Given the description of an element on the screen output the (x, y) to click on. 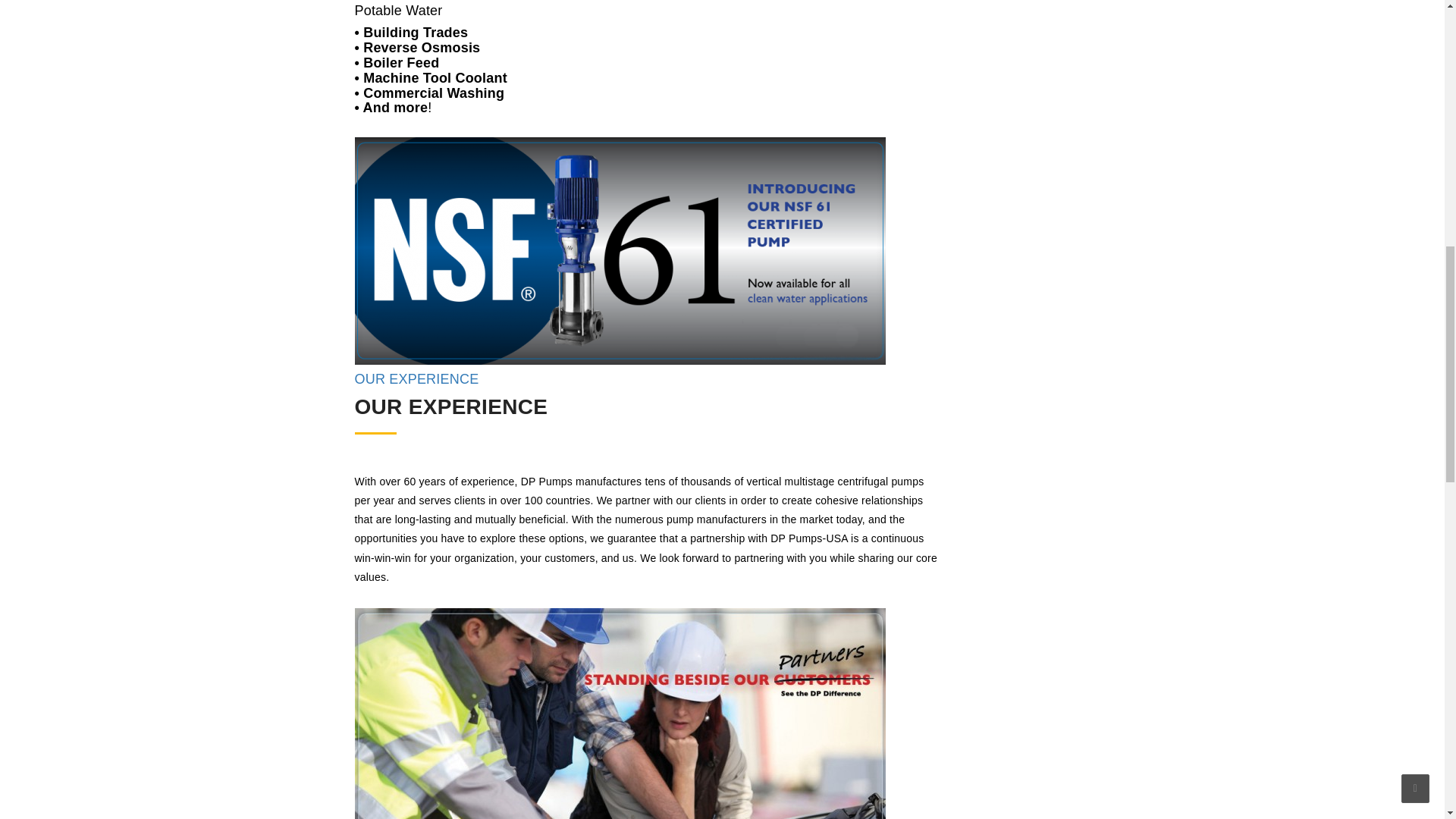
OUR EXPERIENCE (417, 378)
